Given the description of an element on the screen output the (x, y) to click on. 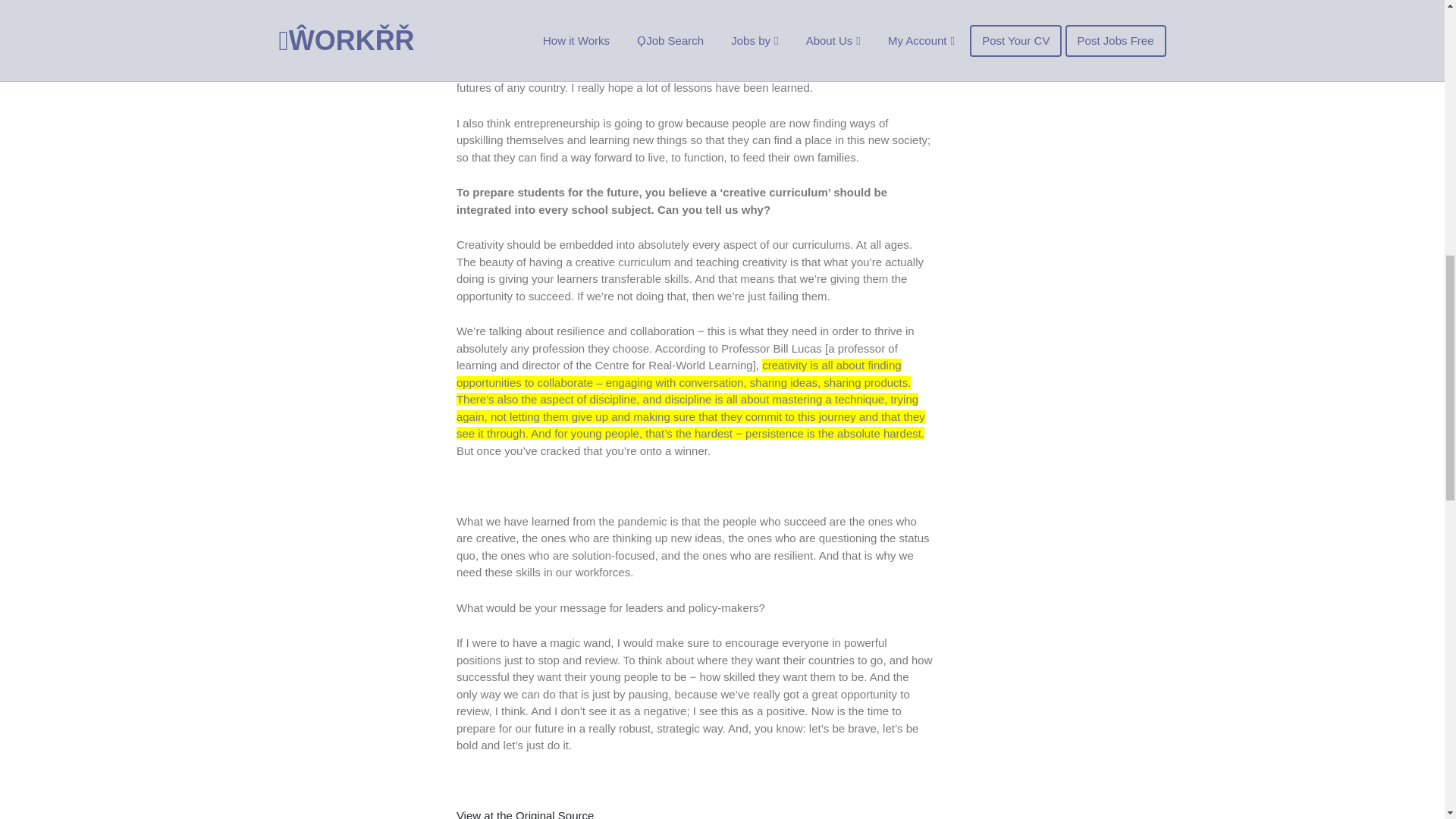
Jobs in Telangana (1031, 32)
View at the Original Source (525, 814)
Jobs in Gujarat (1023, 15)
Jobs in Madhya Pradesh (1047, 2)
